Given the description of an element on the screen output the (x, y) to click on. 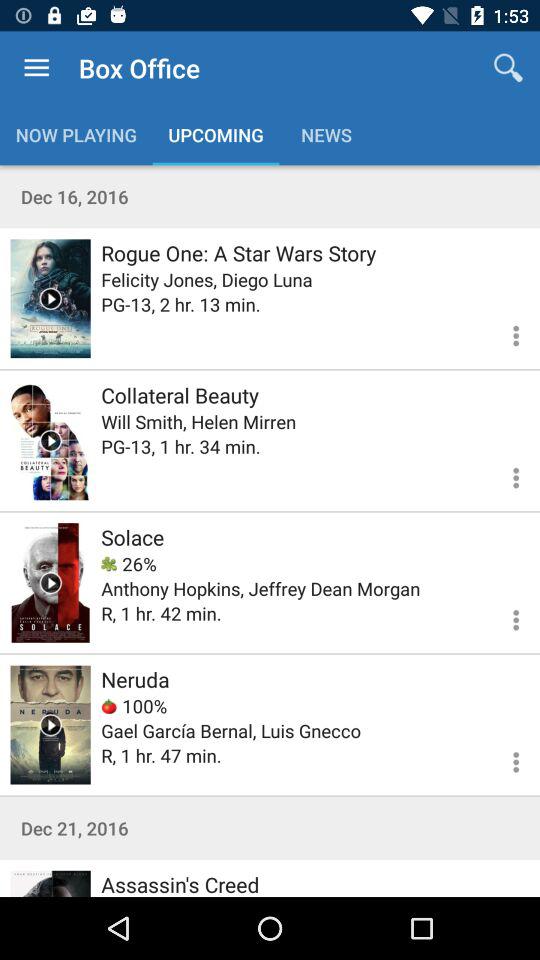
launch the icon next to box office item (36, 68)
